Given the description of an element on the screen output the (x, y) to click on. 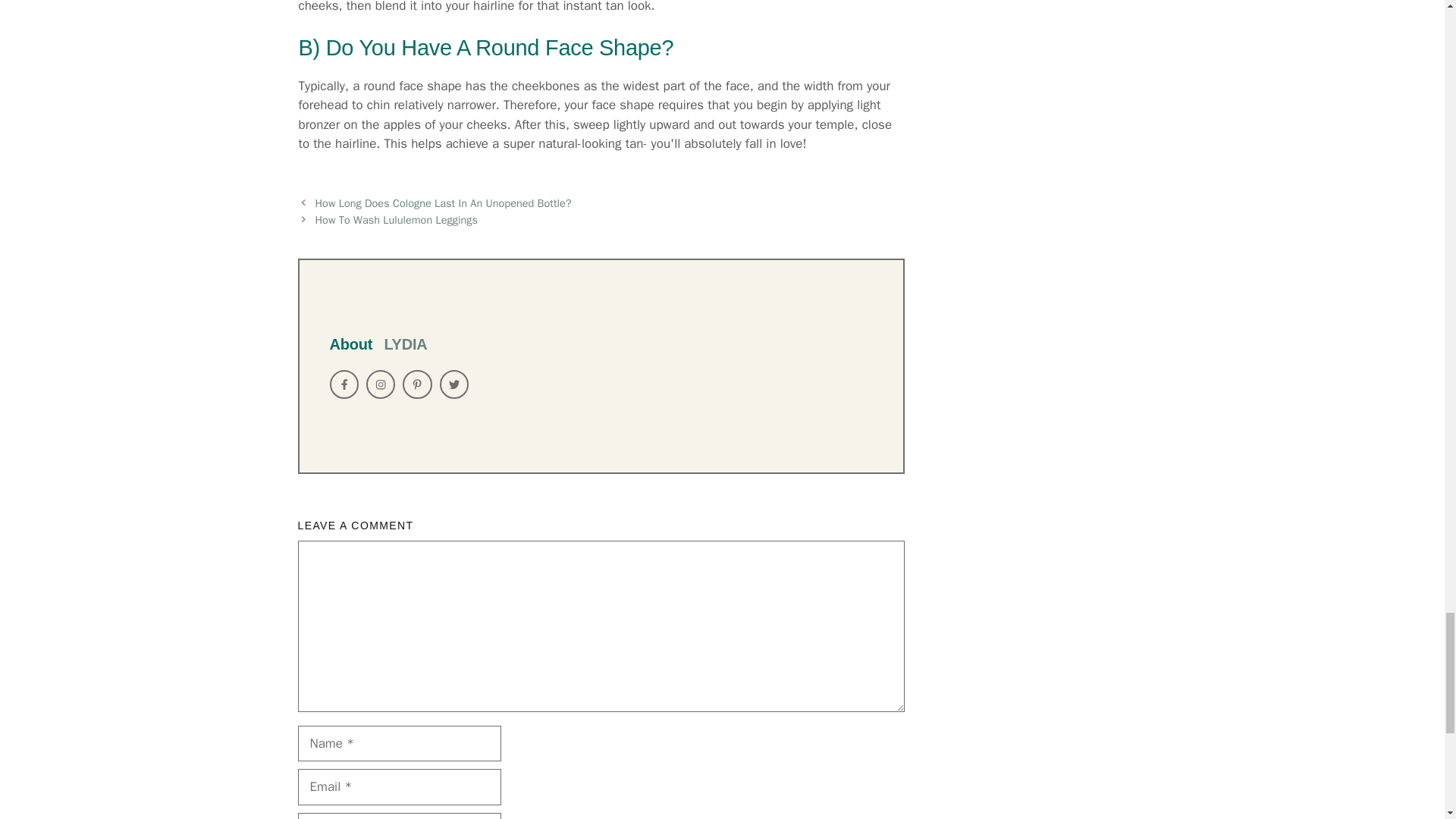
How To Wash Lululemon Leggings (396, 219)
LYDIA (405, 343)
How Long Does Cologne Last In An Unopened Bottle? (443, 202)
